Given the description of an element on the screen output the (x, y) to click on. 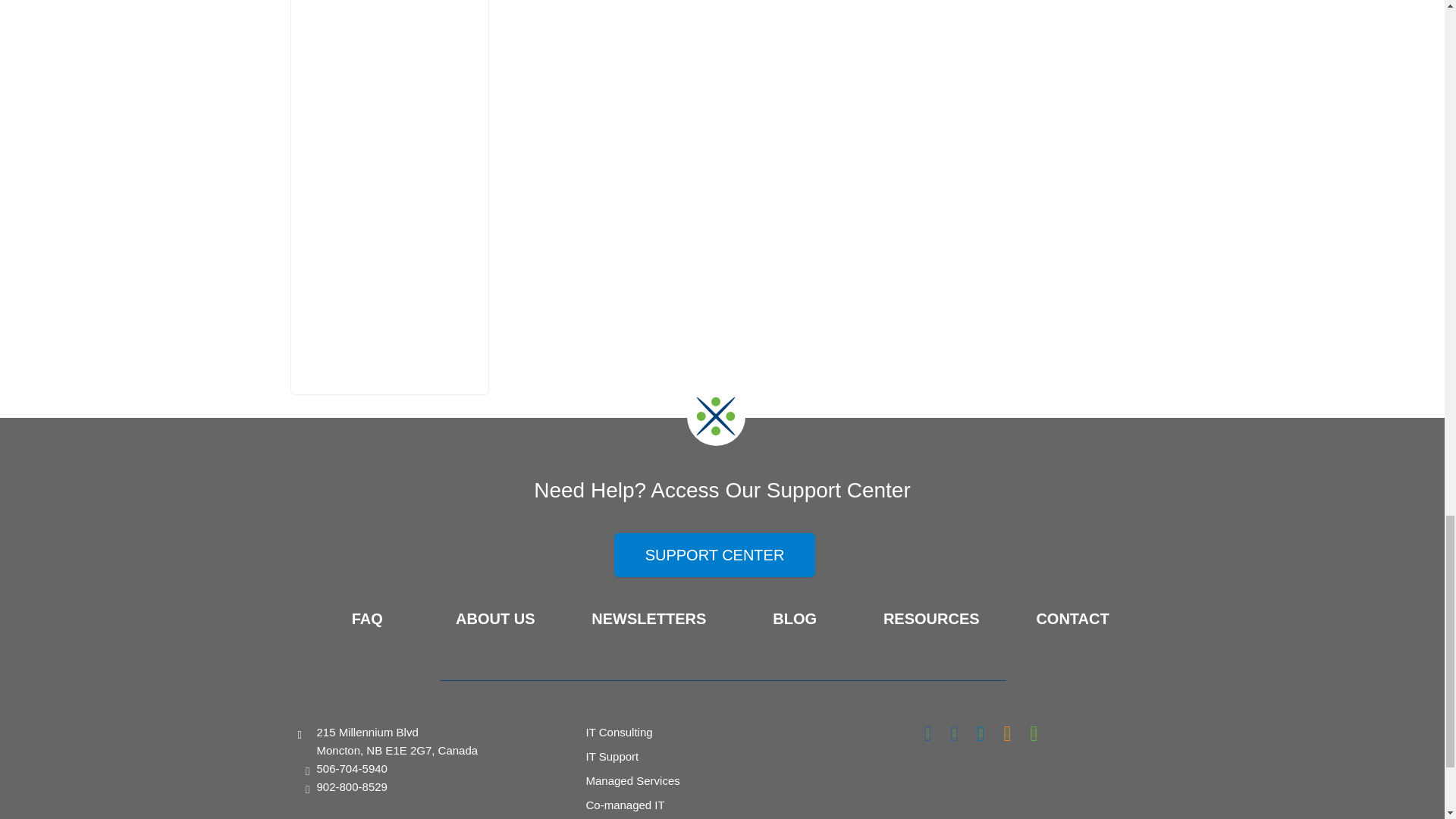
BLOG (794, 618)
RESOURCES (931, 618)
IT Consulting (618, 731)
CONTACT (1071, 618)
NEWSLETTERS (648, 618)
ABOUT US (494, 618)
SUPPORT CENTER (714, 555)
FAQ (367, 618)
